Given the description of an element on the screen output the (x, y) to click on. 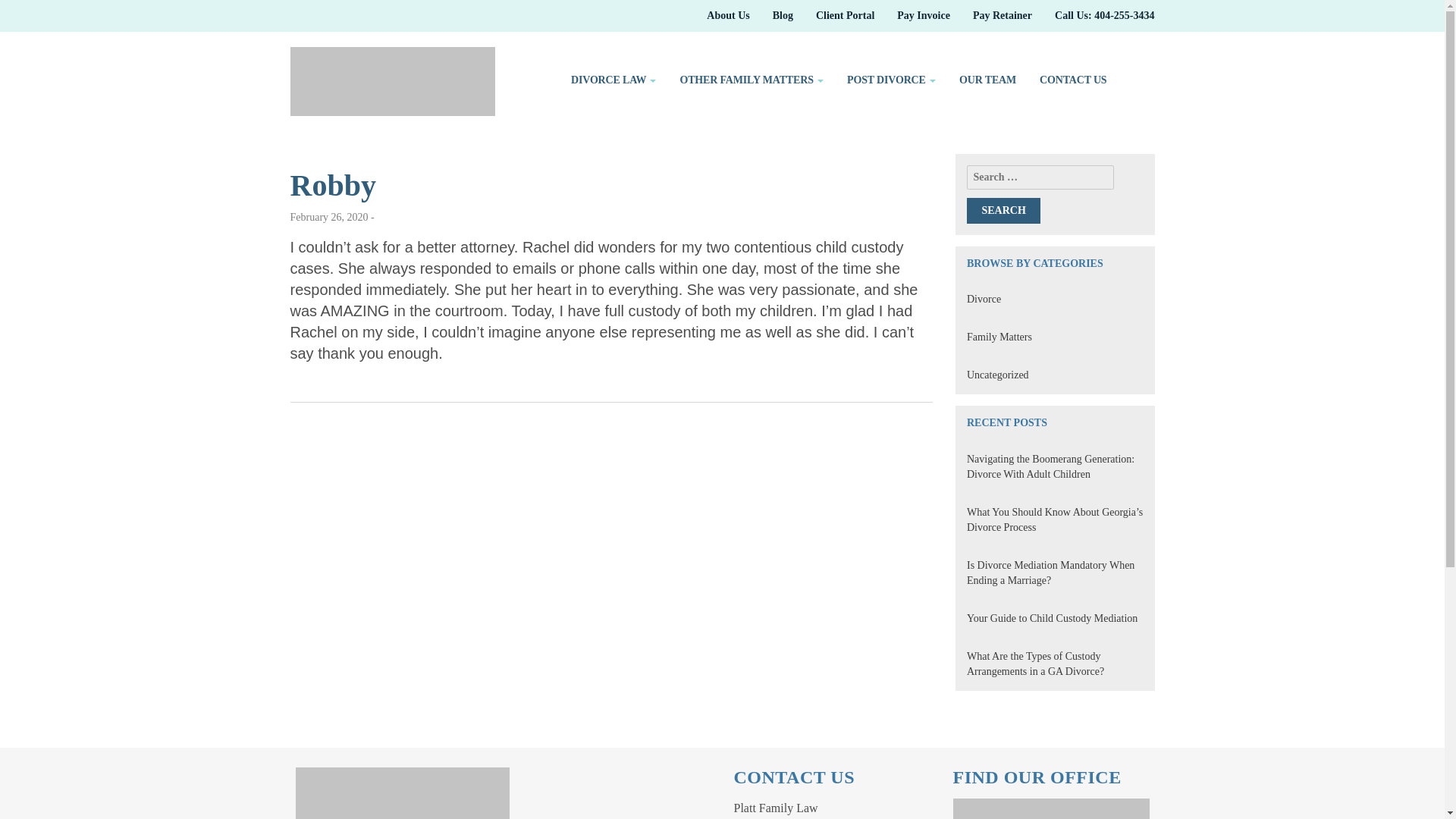
FAMILY LAW FIRM ROSWELL GA (371, 145)
Platt Law Client Portal (845, 15)
Pay Invoice (923, 15)
CONTACT US (1072, 79)
404-255-3434 (1104, 15)
Search (1003, 210)
DIVORCE LAW (613, 79)
About Us (727, 15)
OUR TEAM (987, 79)
